Given the description of an element on the screen output the (x, y) to click on. 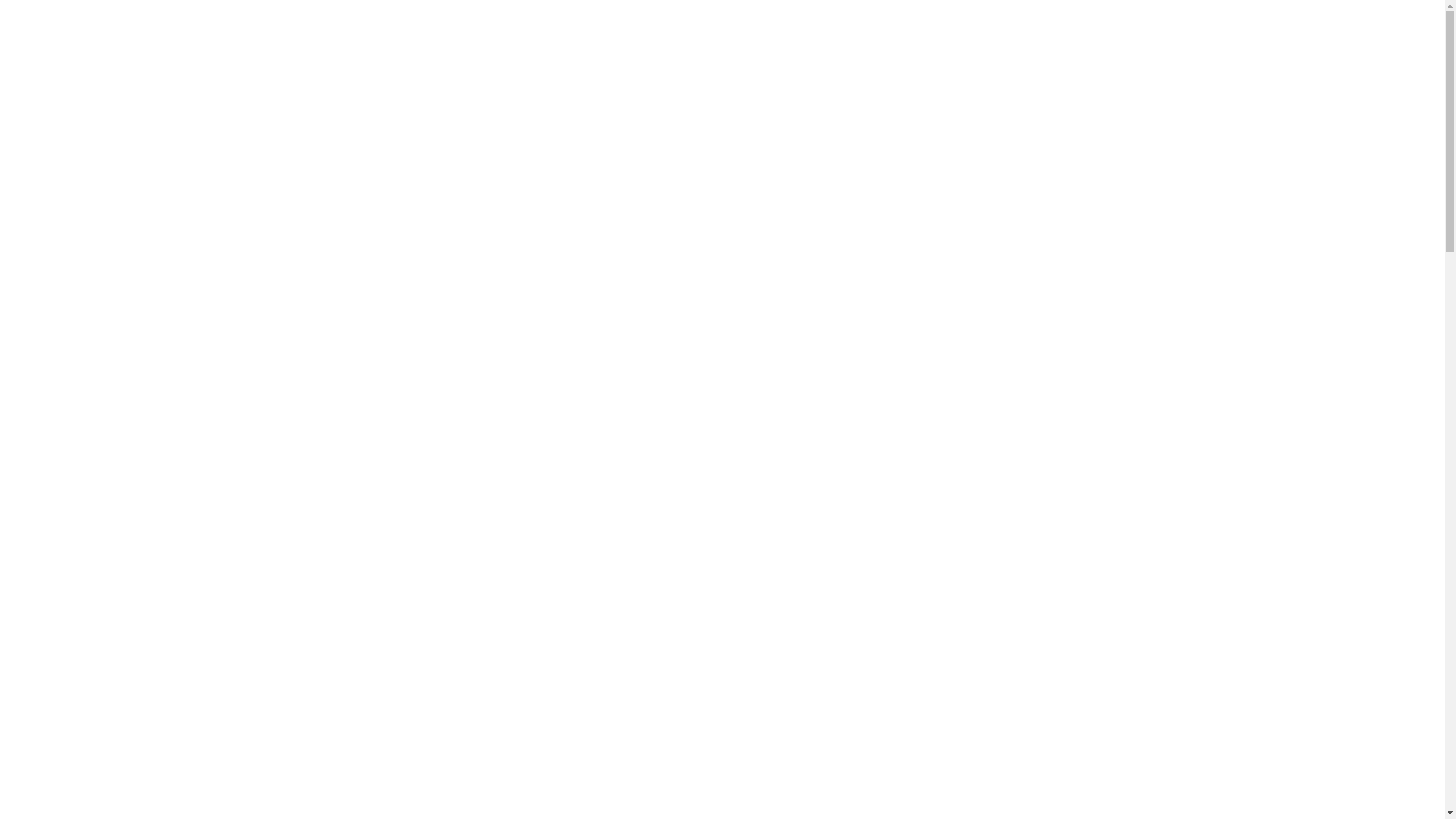
ARCHIVE Element type: text (1155, 762)
NEWS Element type: text (505, 762)
ABOUT Element type: text (938, 762)
TOP Element type: text (288, 762)
THEATER Element type: text (722, 762)
